Given the description of an element on the screen output the (x, y) to click on. 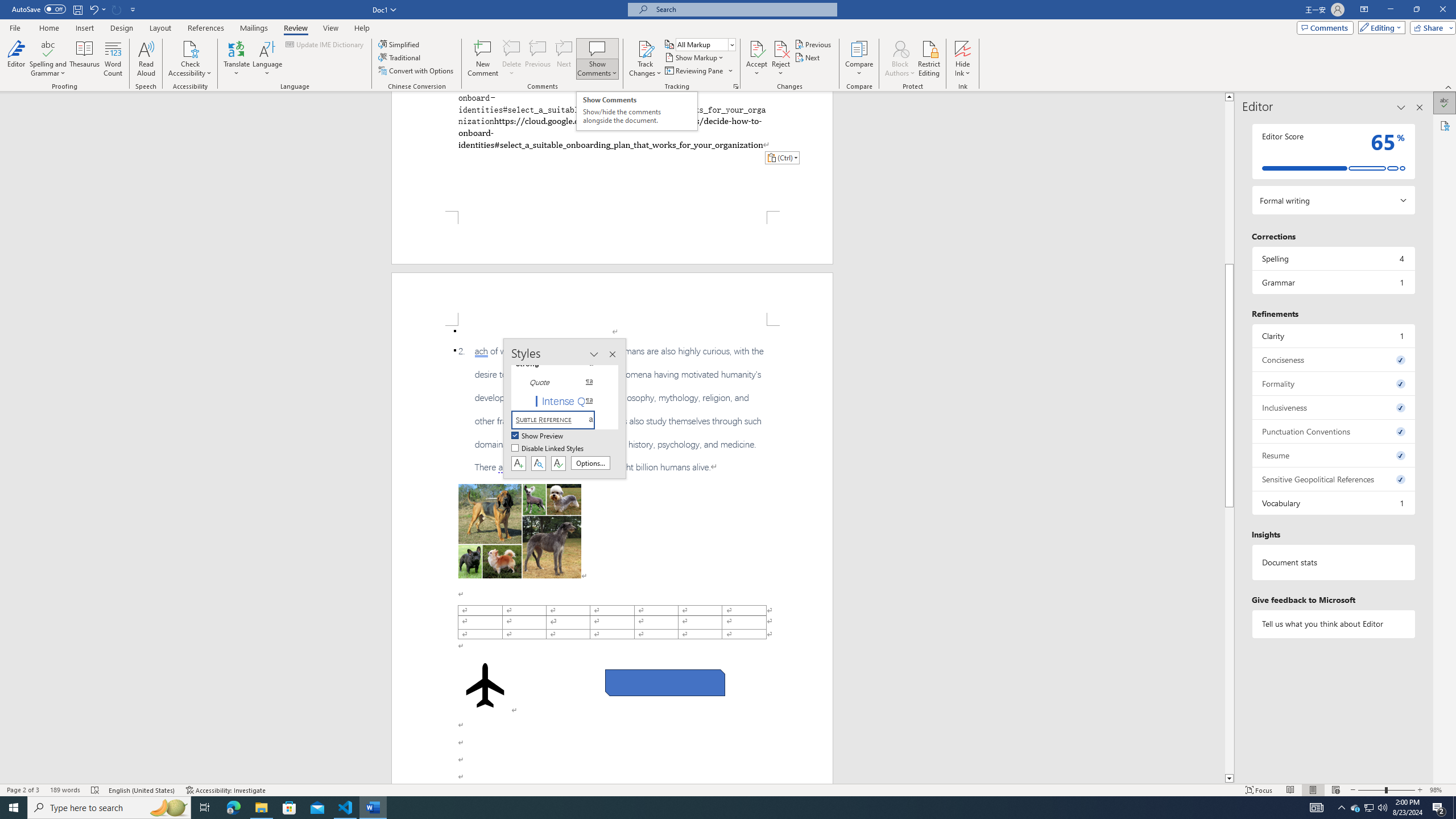
Block Authors (900, 48)
Show Comments (597, 58)
Show Preview (537, 436)
Tell us what you think about Editor (1333, 624)
Clarity, 1 issue. Press space or enter to review items. (1333, 335)
Change Tracking Options... (735, 85)
Restrict Editing (929, 58)
Page 1 content (611, 151)
Line up (1229, 96)
Translate (236, 58)
